Given the description of an element on the screen output the (x, y) to click on. 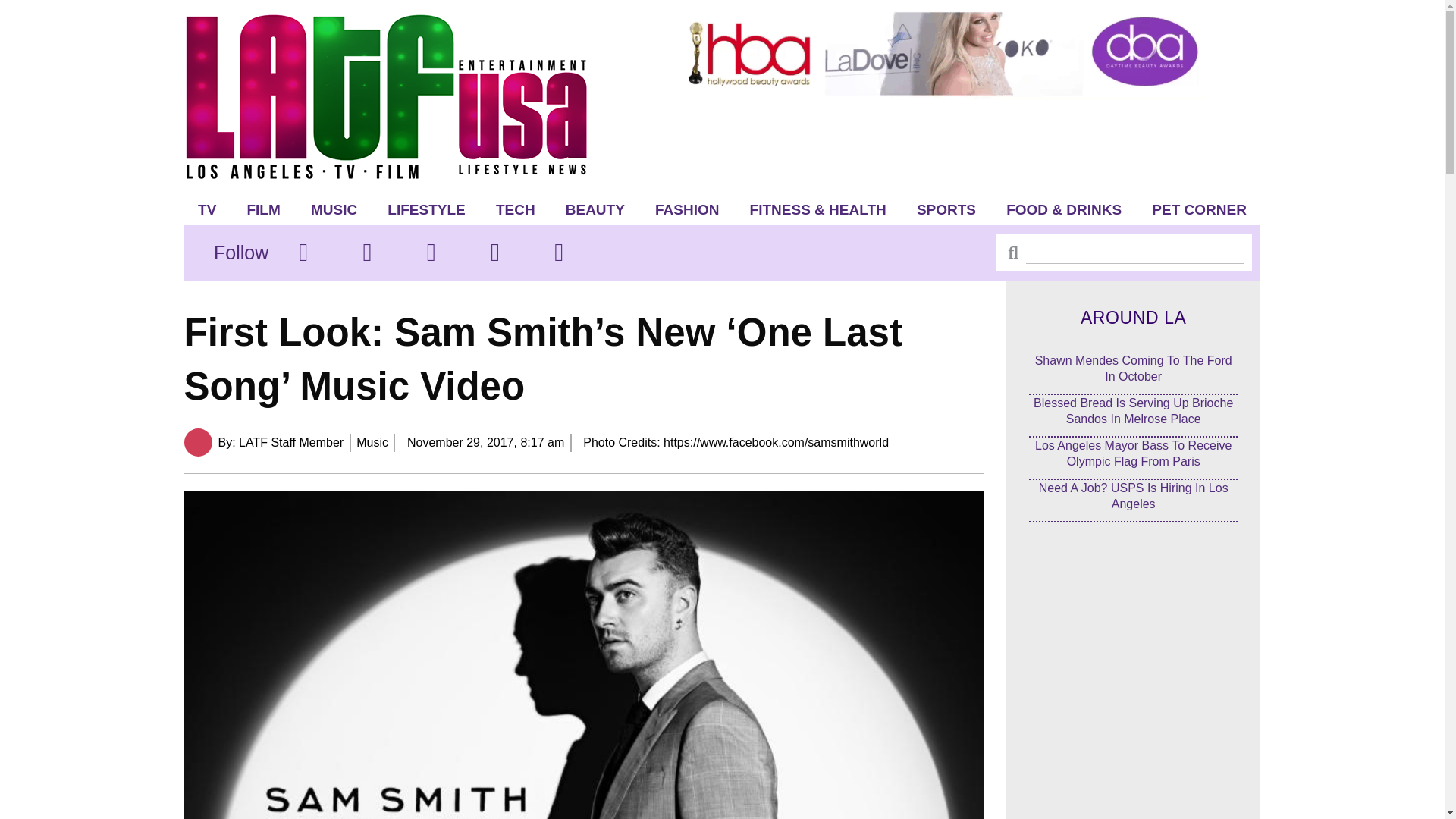
TV (207, 209)
SPORTS (946, 209)
MUSIC (333, 209)
BEAUTY (595, 209)
LIFESTYLE (426, 209)
PET CORNER (1199, 209)
FASHION (687, 209)
TECH (515, 209)
FILM (263, 209)
